Given the description of an element on the screen output the (x, y) to click on. 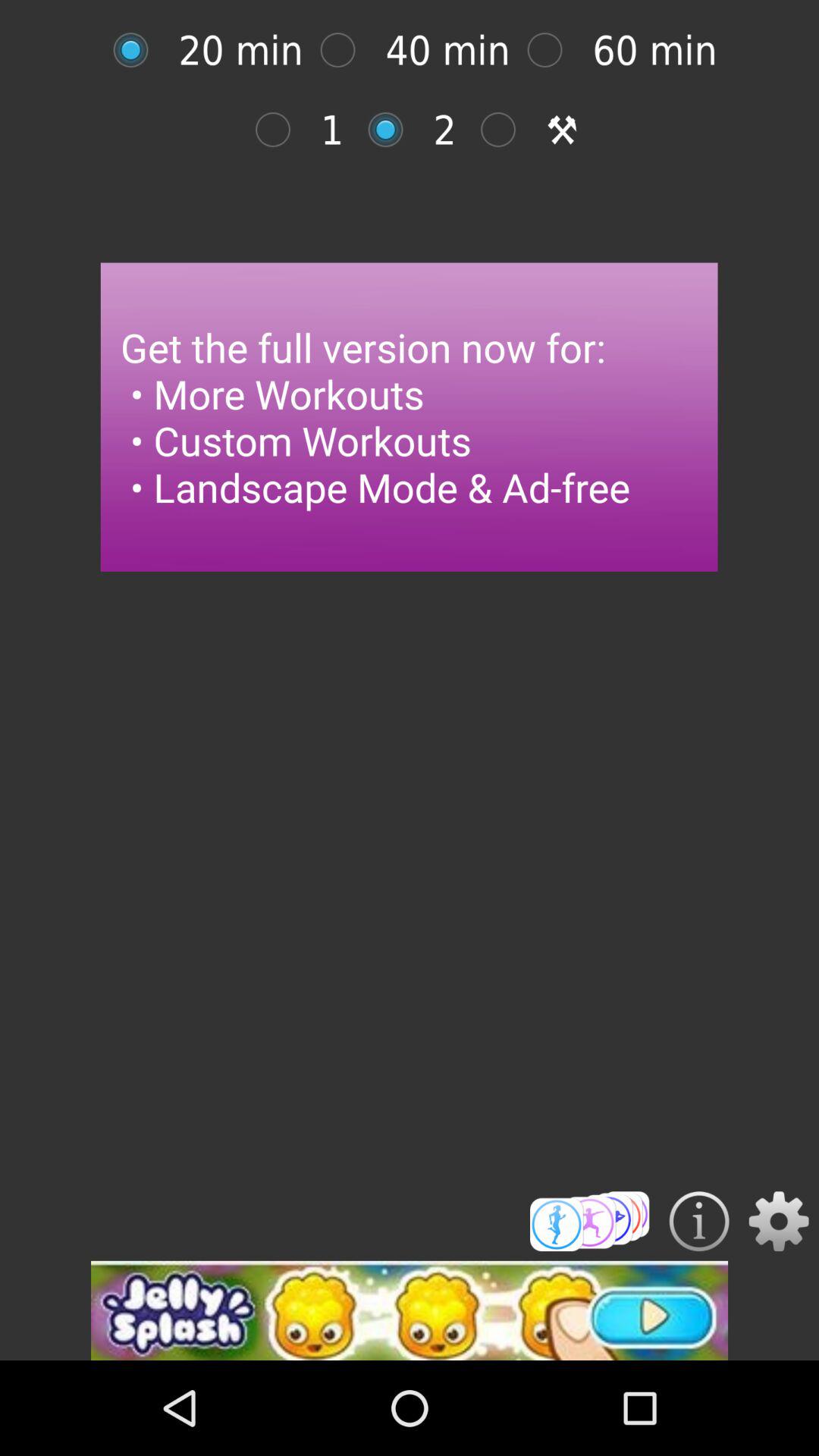
select time button (138, 49)
